Given the description of an element on the screen output the (x, y) to click on. 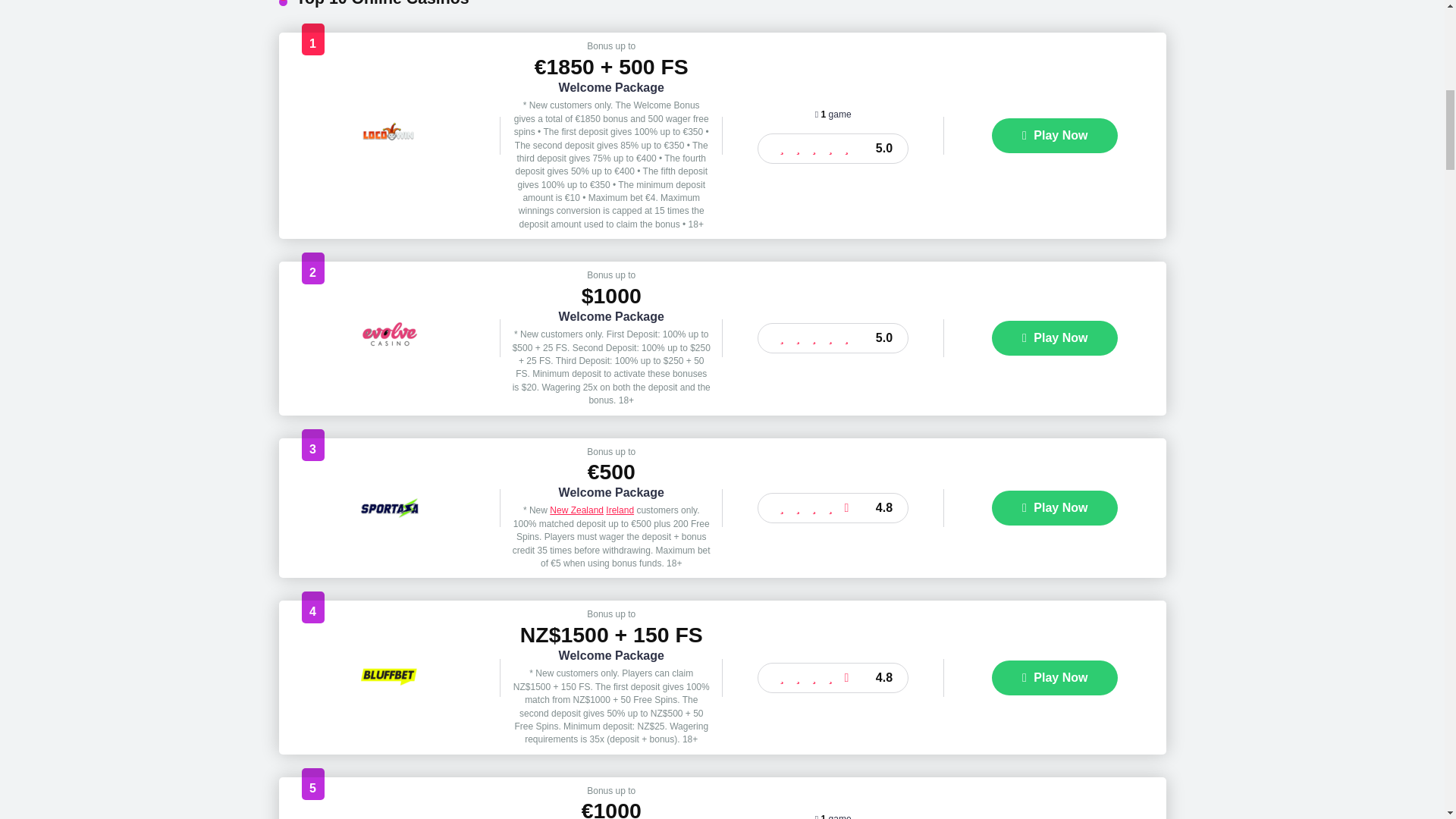
Play Now (1054, 677)
Play Now (1054, 507)
Play Now (1054, 135)
Play Now (1054, 338)
New Zealand (577, 510)
Ireland (619, 510)
